Given the description of an element on the screen output the (x, y) to click on. 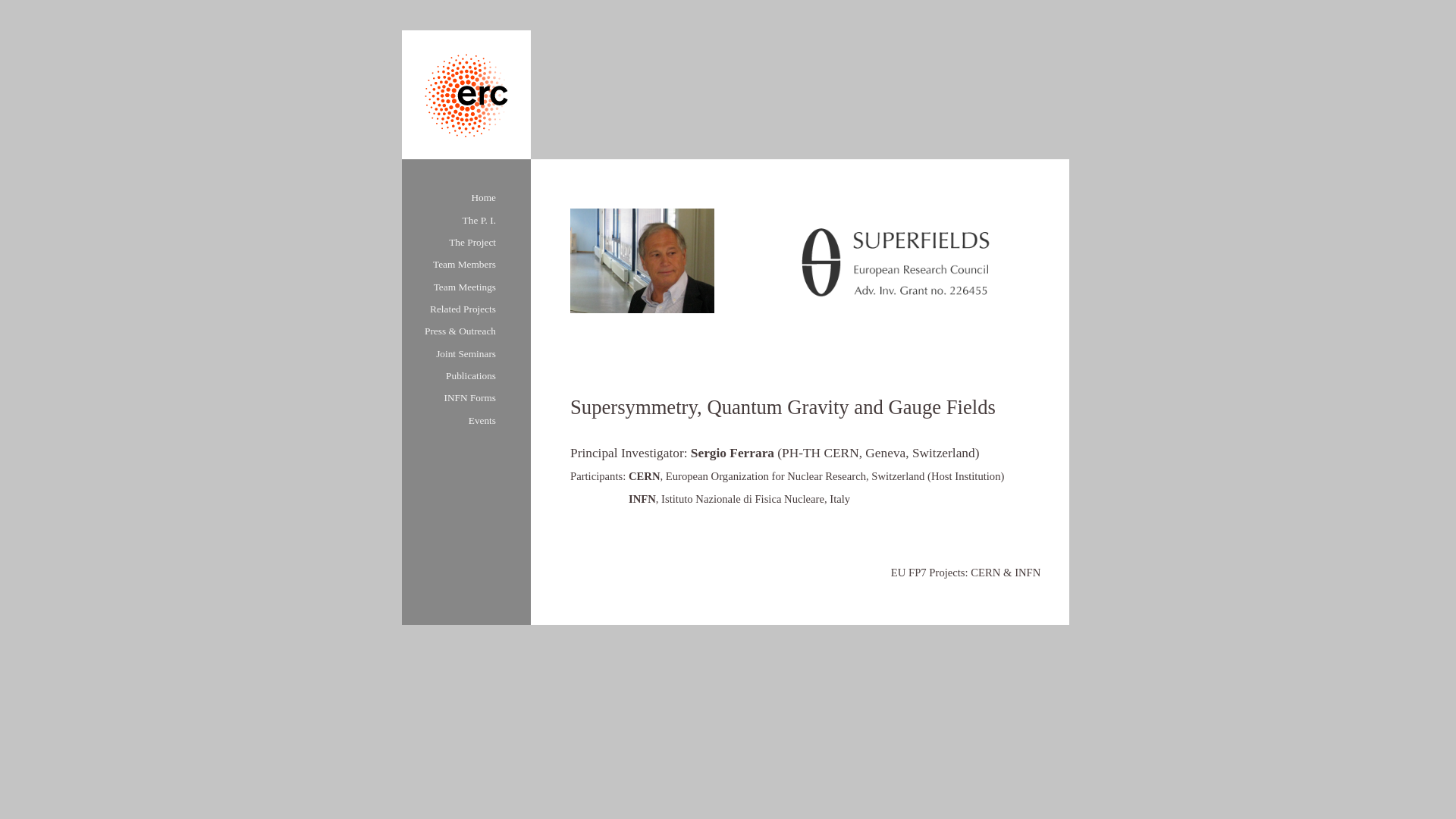
INFN Element type: text (1027, 572)
INFN Element type: text (641, 498)
Joint Seminars Element type: text (465, 353)
Events Element type: text (481, 420)
Team Meetings Element type: text (464, 286)
CERN Element type: text (644, 476)
Press & Outreach Element type: text (459, 330)
INFN Forms Element type: text (470, 397)
Publications Element type: text (470, 375)
Team Members Element type: text (464, 263)
The P. I. Element type: text (478, 219)
CERN Element type: text (985, 572)
Related Projects Element type: text (462, 308)
The Project Element type: text (471, 241)
Home Element type: text (482, 197)
